Given the description of an element on the screen output the (x, y) to click on. 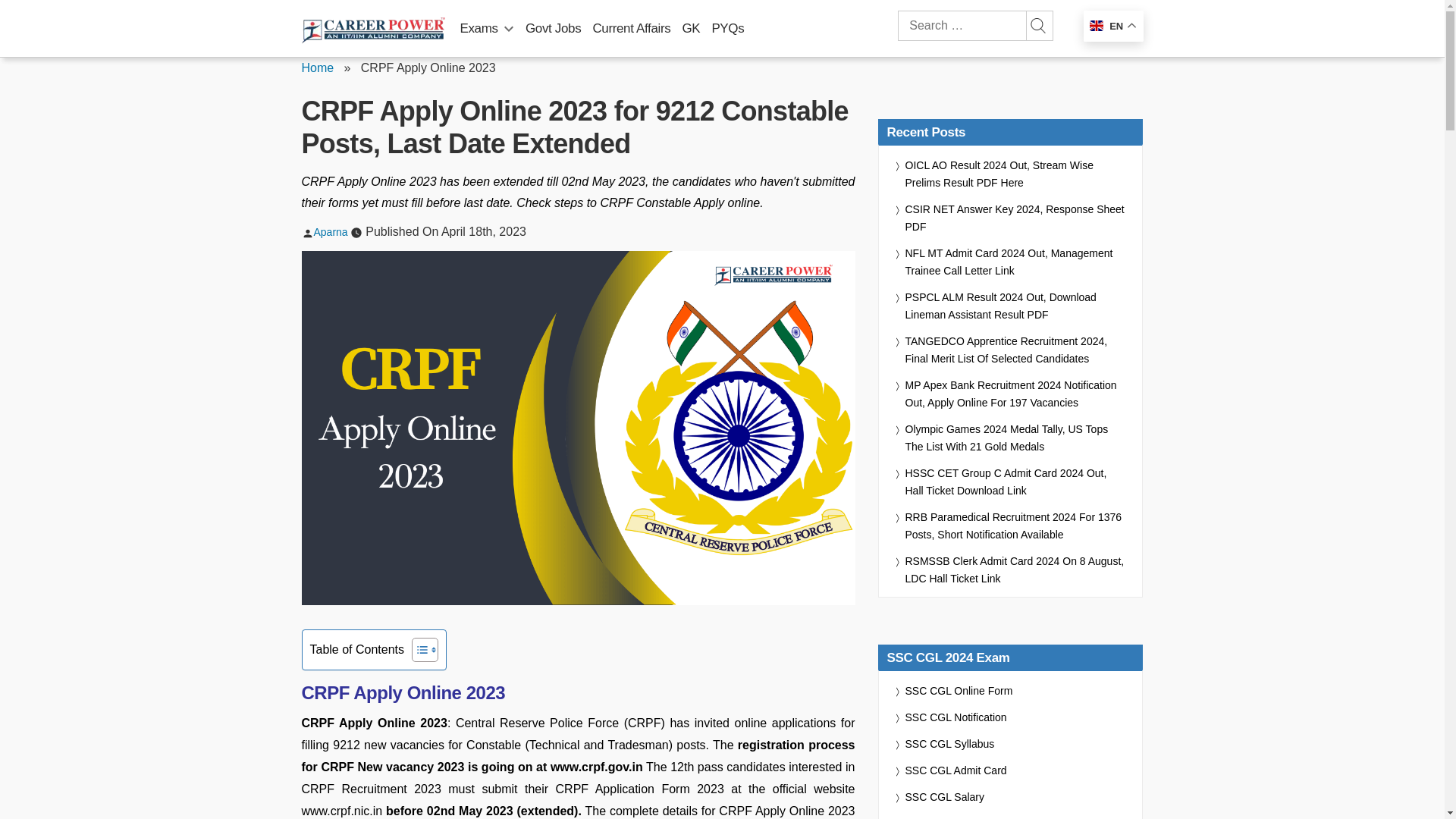
Current Affairs (630, 28)
Search (1037, 25)
Search (1037, 25)
Govt Jobs (552, 28)
Search (1037, 25)
